Given the description of an element on the screen output the (x, y) to click on. 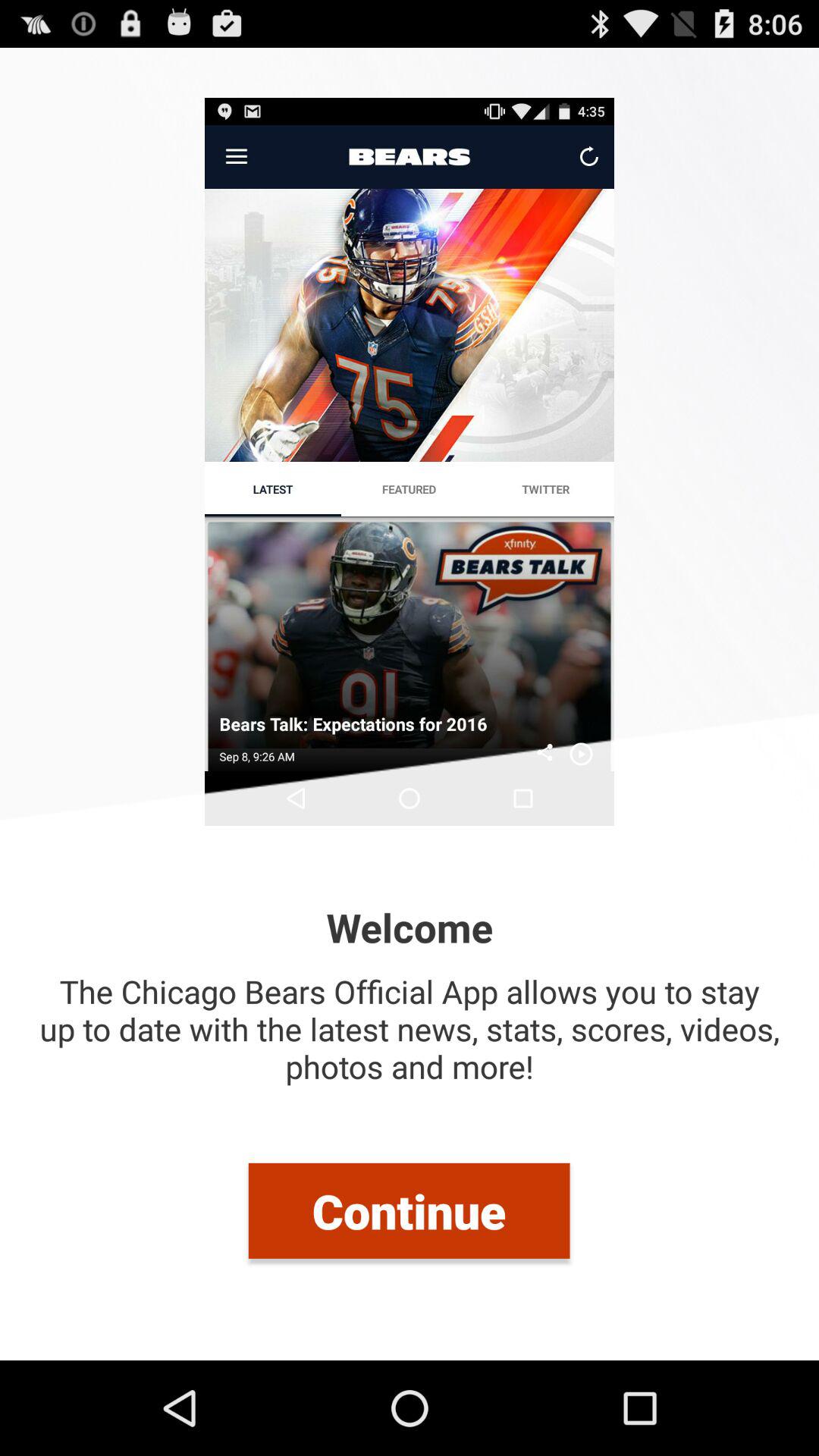
choose item below the the chicago bears (408, 1210)
